Given the description of an element on the screen output the (x, y) to click on. 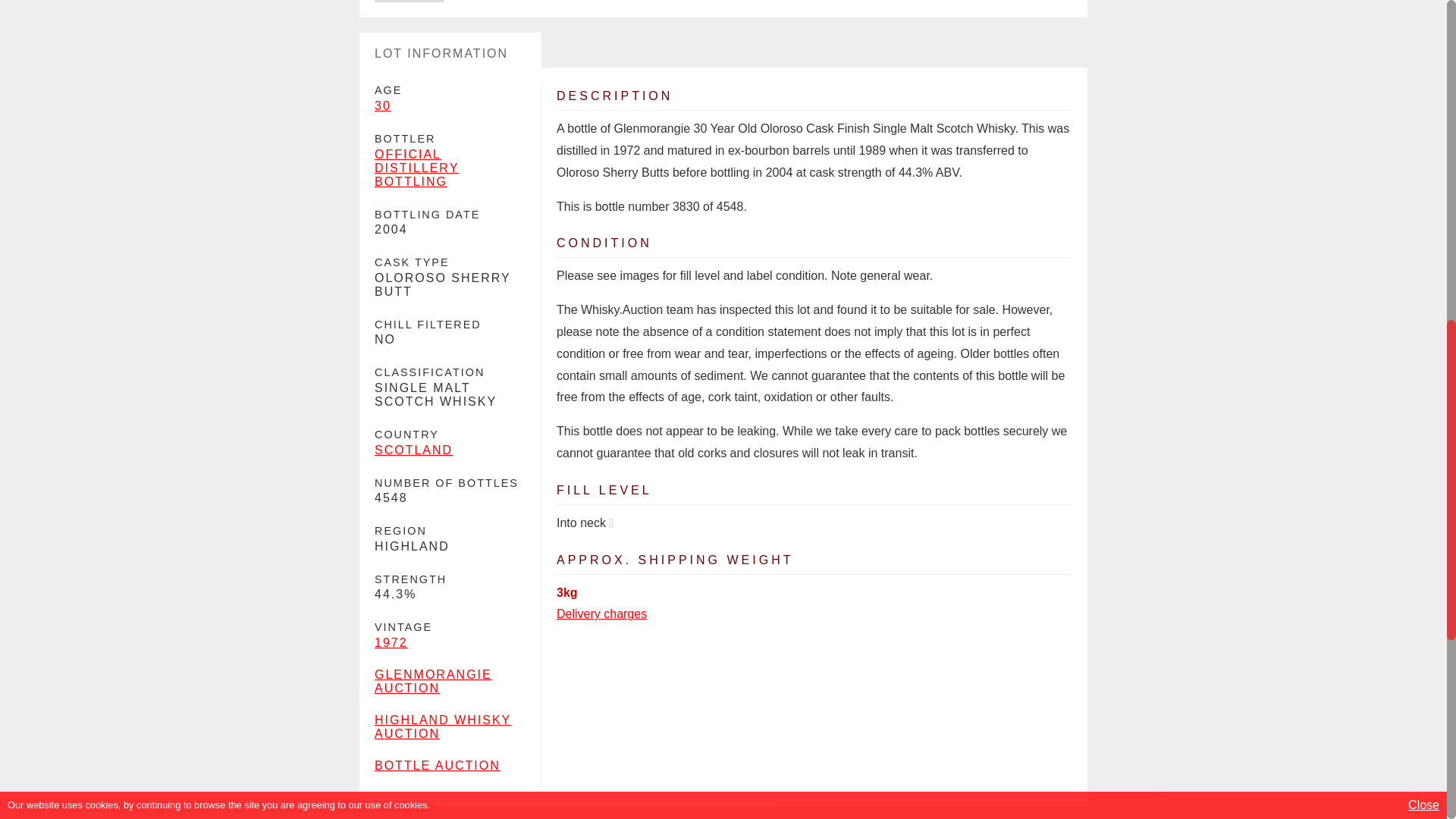
Back (409, 1)
30 (382, 105)
